Given the description of an element on the screen output the (x, y) to click on. 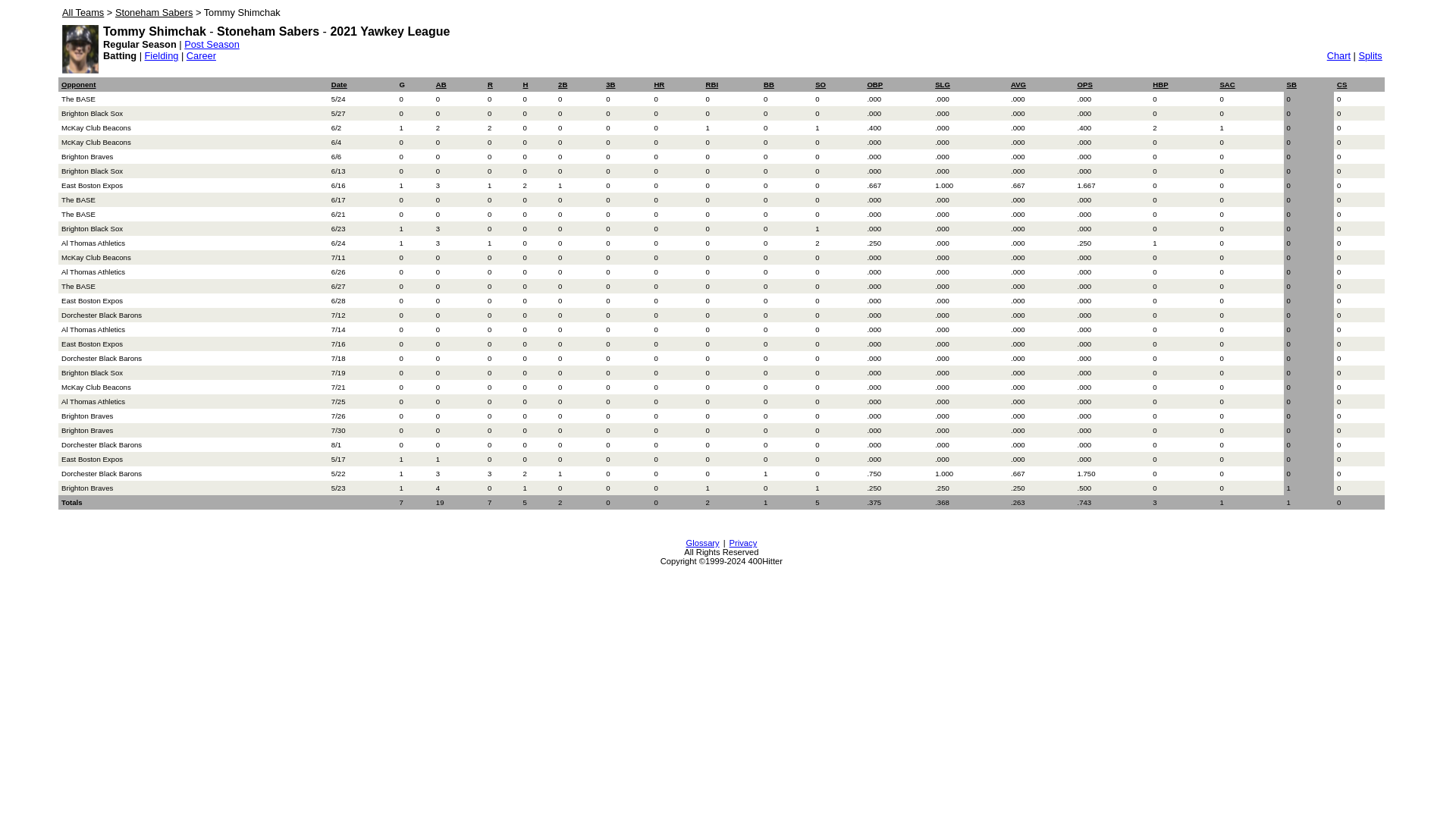
HBP Element type: text (1159, 84)
SAC Element type: text (1226, 84)
Fielding Element type: text (161, 55)
Opponent Element type: text (78, 82)
H Element type: text (525, 84)
HR Element type: text (658, 84)
All Teams Element type: text (82, 11)
R Element type: text (489, 84)
2B Element type: text (562, 84)
BB Element type: text (768, 84)
3B Element type: text (610, 84)
Post Season Element type: text (211, 44)
Glossary Element type: text (702, 542)
OPS Element type: text (1084, 84)
Career Element type: text (201, 55)
RBI Element type: text (712, 84)
SLG Element type: text (942, 84)
SB Element type: text (1291, 84)
AB Element type: text (441, 84)
Splits Element type: text (1369, 55)
Chart Element type: text (1338, 55)
AVG Element type: text (1018, 84)
Privacy Element type: text (743, 542)
SO Element type: text (820, 84)
CS Element type: text (1341, 84)
Date Element type: text (339, 82)
OBP Element type: text (874, 84)
Stoneham Sabers Element type: text (153, 11)
